Given the description of an element on the screen output the (x, y) to click on. 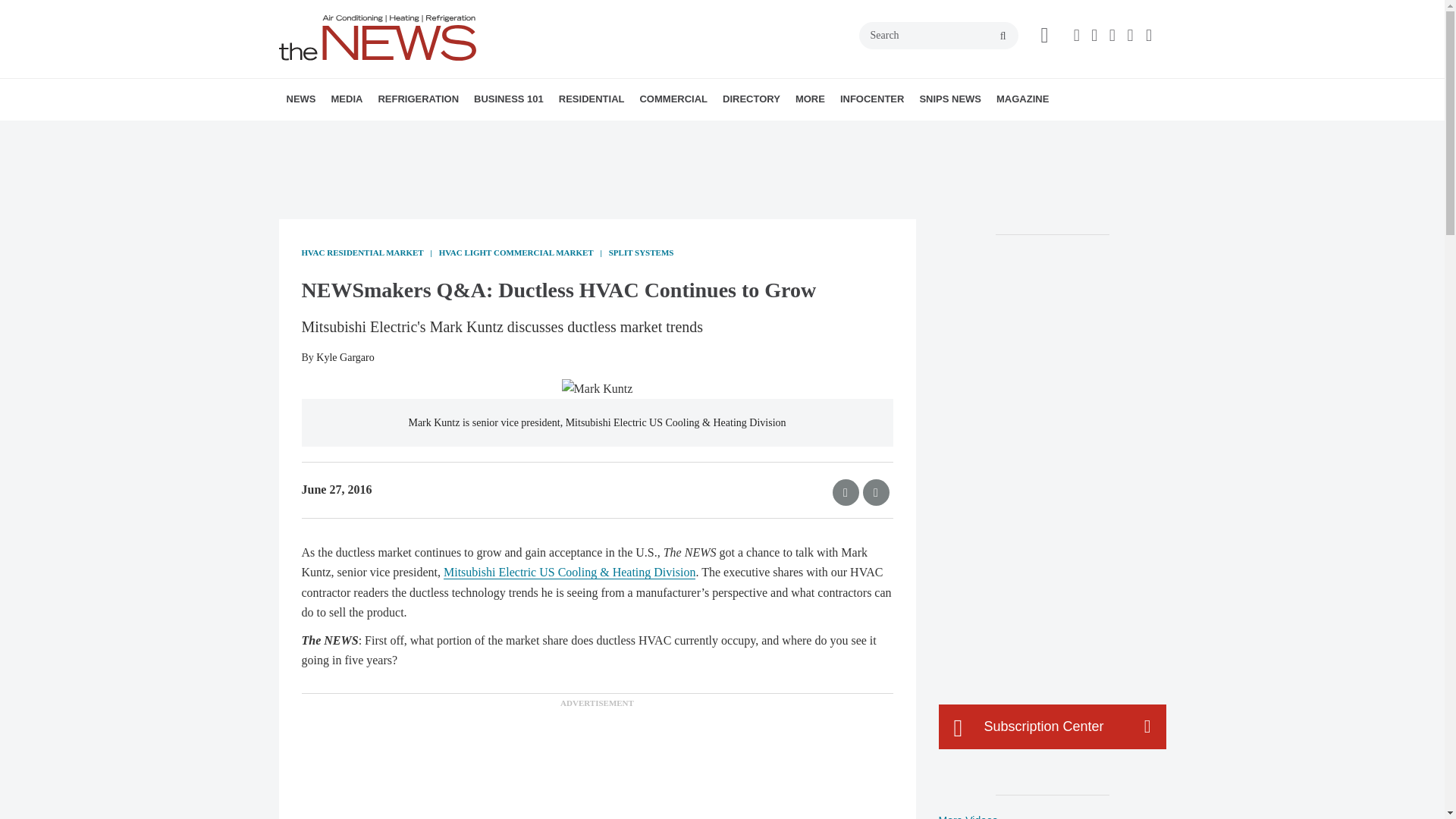
EBOOKS (442, 132)
MANUFACTURER REPORTS (386, 132)
Search (938, 35)
BUSINESS 101 (508, 98)
NEWS (301, 98)
BREAKING NEWS (373, 132)
THE NEWS HVACR QUIZ (445, 132)
WEBINARS (436, 132)
MEDIA (346, 98)
HVAC DATA (391, 132)
